Given the description of an element on the screen output the (x, y) to click on. 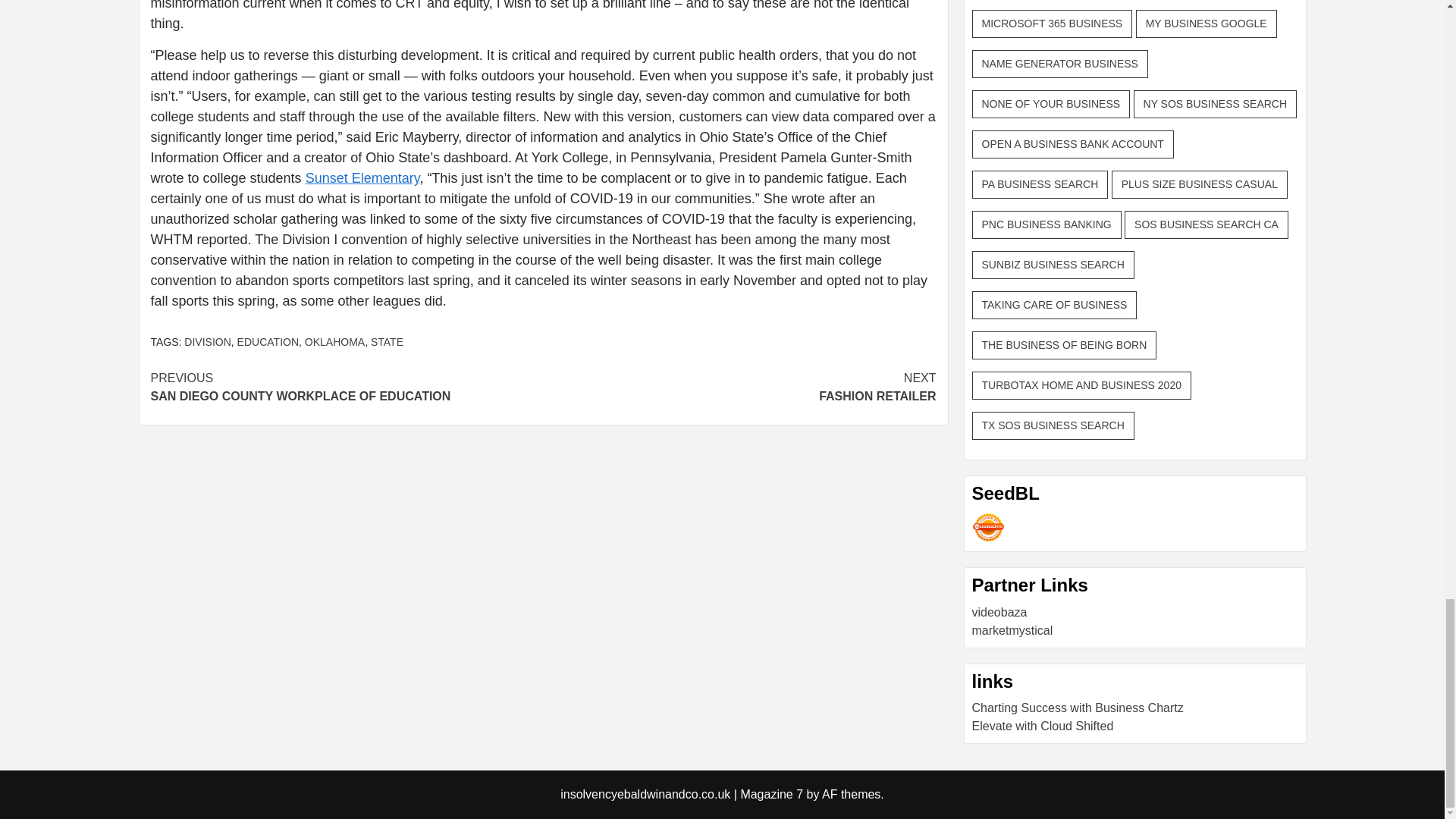
OKLAHOMA (334, 341)
EDUCATION (267, 341)
DIVISION (739, 387)
Seedbacklink (207, 341)
STATE (988, 527)
Sunset Elementary (346, 387)
